Given the description of an element on the screen output the (x, y) to click on. 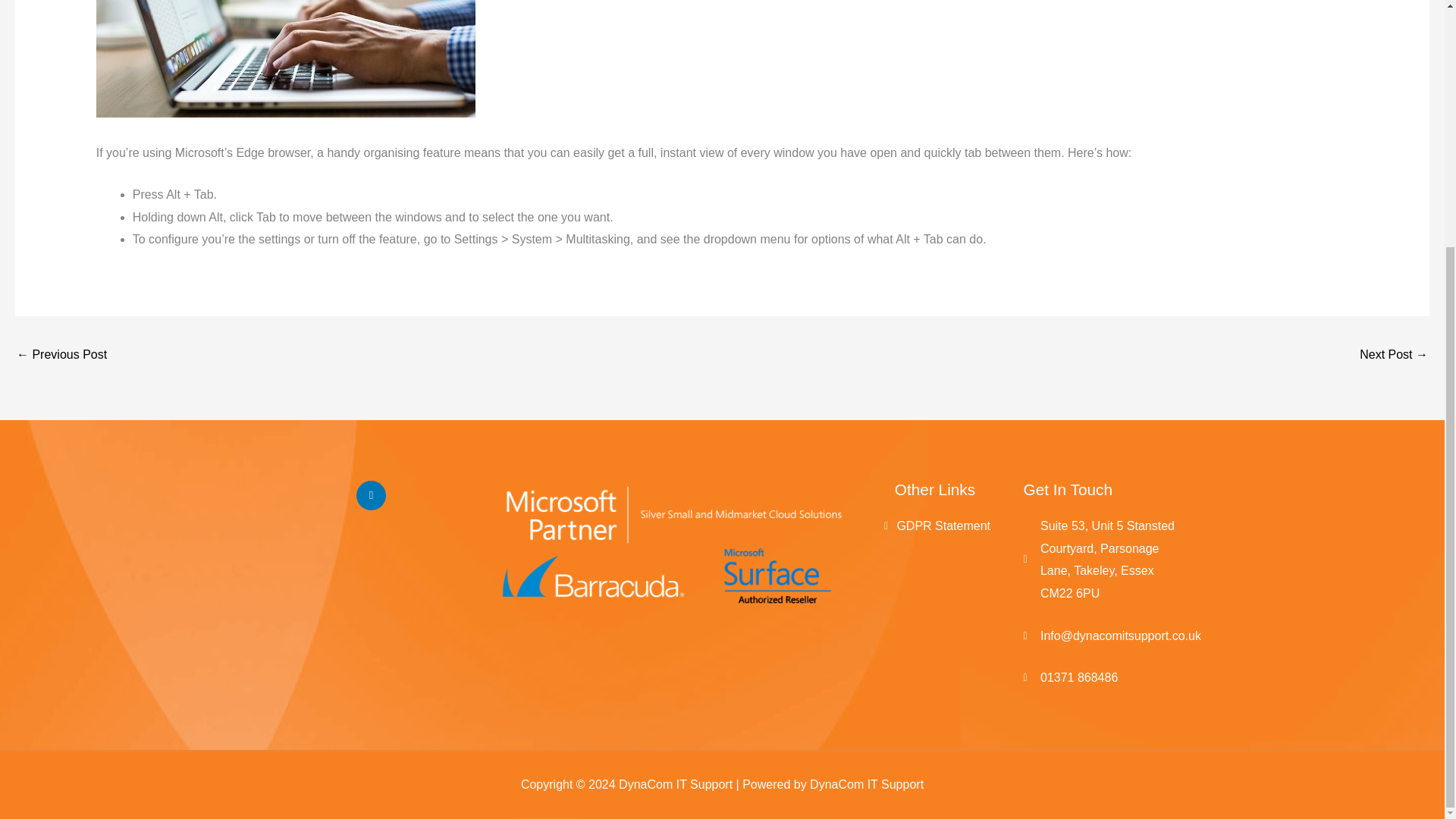
Featured Article : Google Killing 3rd Party Cookies (61, 356)
Featured Article: Getting The Most From Spotify (1393, 356)
GDPR Statement (934, 526)
Linkedin-in (370, 495)
